Given the description of an element on the screen output the (x, y) to click on. 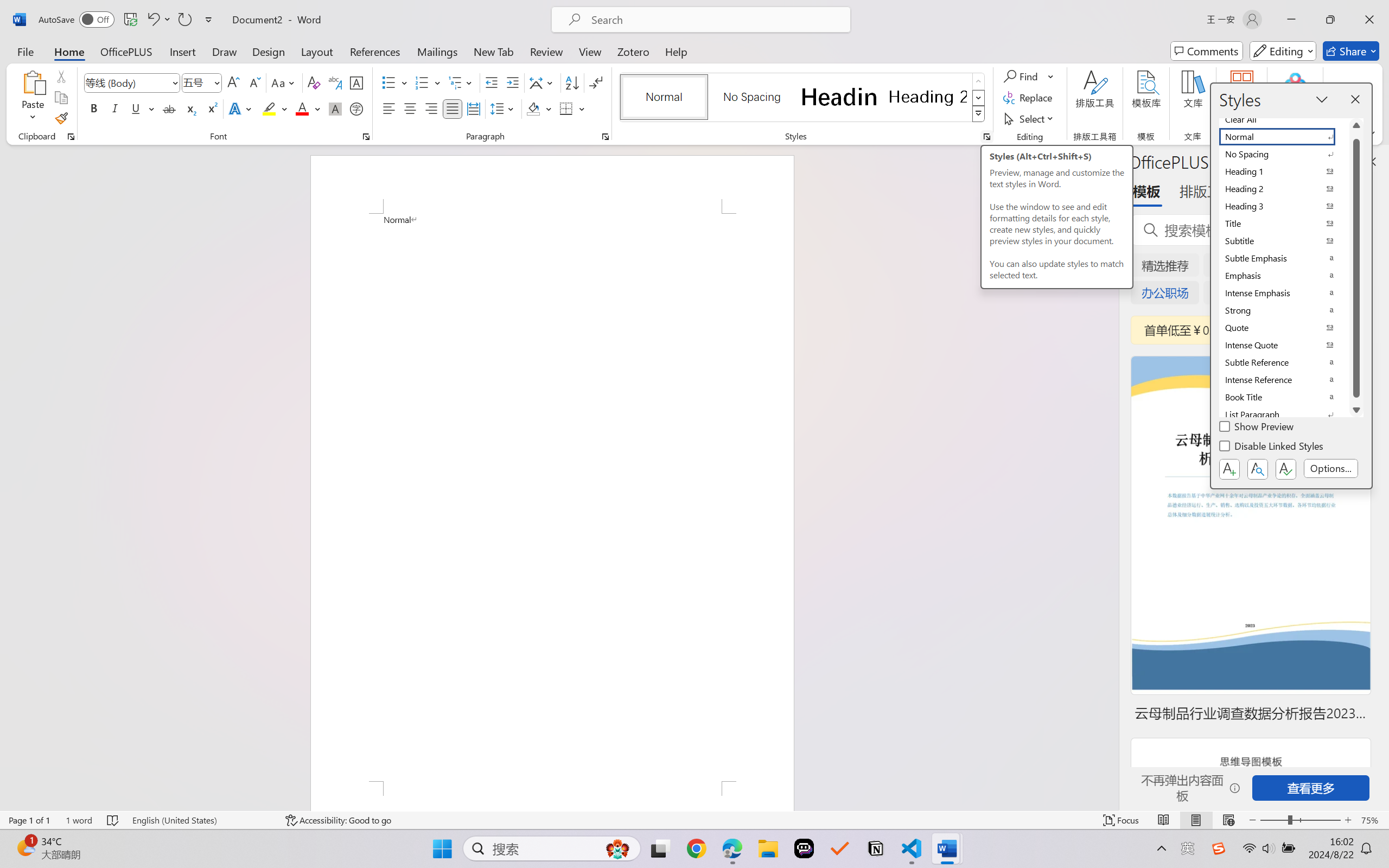
Bullets (395, 82)
AutomationID: DynamicSearchBoxGleamImage (617, 848)
Focus  (1121, 819)
Borders (566, 108)
Phonetic Guide... (334, 82)
Styles... (986, 136)
No Spacing (1283, 154)
Sort... (571, 82)
Shrink Font (253, 82)
Layout (316, 51)
